Given the description of an element on the screen output the (x, y) to click on. 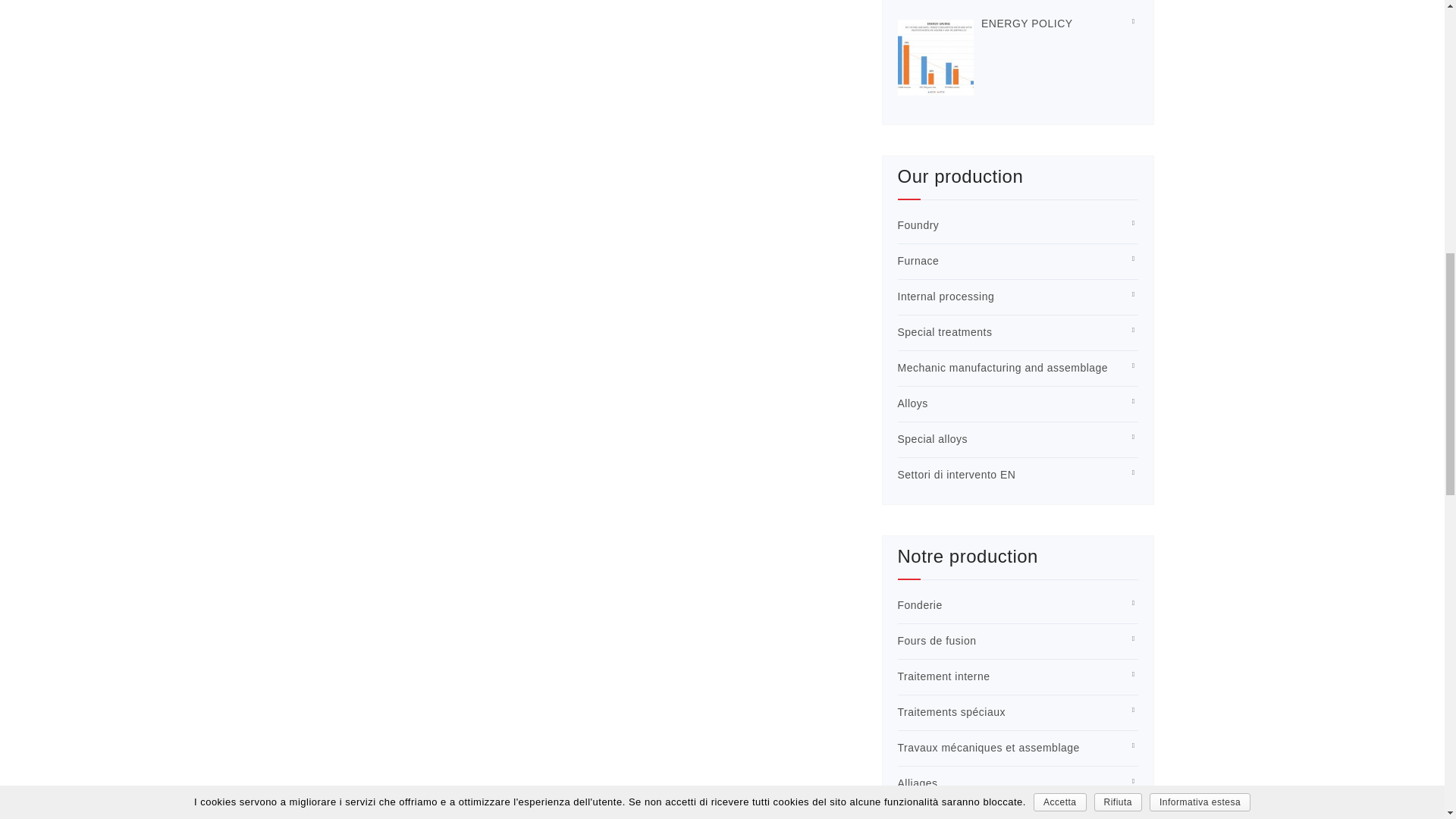
ENERGY POLICY (1027, 23)
Furnace (918, 260)
Foundry (918, 224)
